Given the description of an element on the screen output the (x, y) to click on. 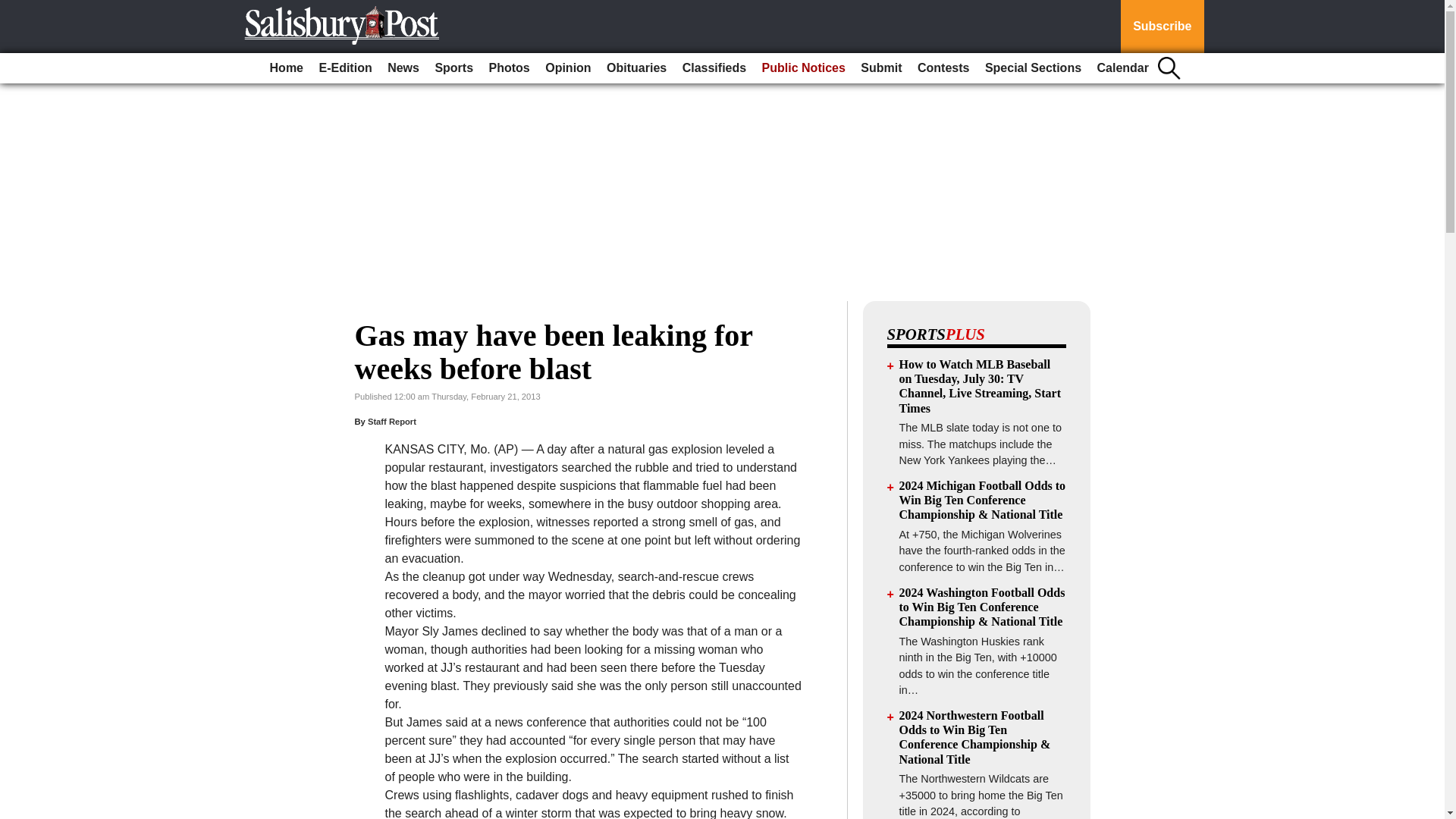
Special Sections (1032, 68)
Submit (880, 68)
Contests (943, 68)
Public Notices (803, 68)
Obituaries (635, 68)
Home (285, 68)
News (403, 68)
Opinion (567, 68)
Photos (509, 68)
Subscribe (1162, 26)
E-Edition (345, 68)
Sports (453, 68)
Classifieds (714, 68)
